Given the description of an element on the screen output the (x, y) to click on. 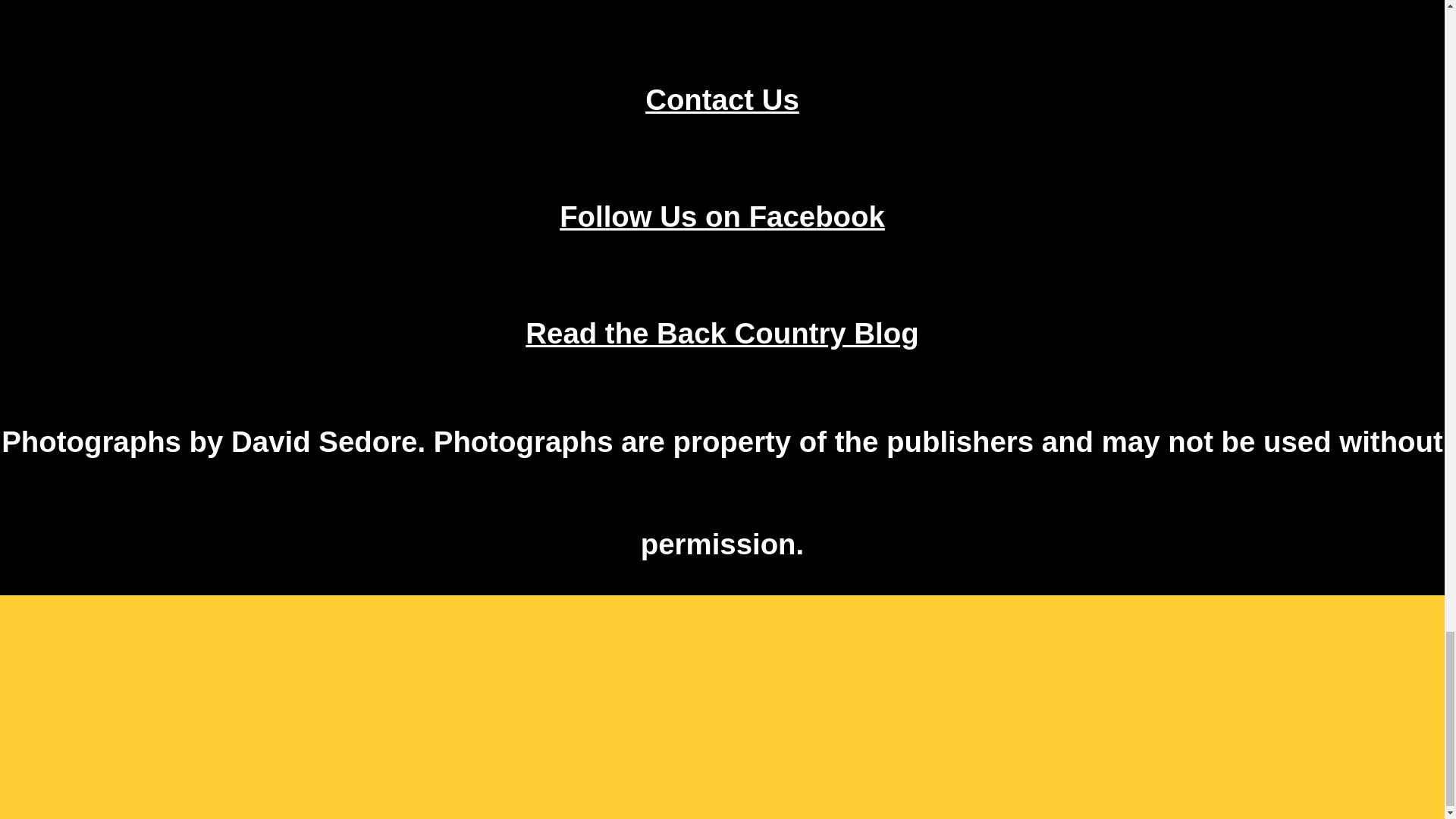
Read the Back Country Blog (721, 332)
Contact Us (722, 99)
Follow Us on Facebook (722, 215)
